Given the description of an element on the screen output the (x, y) to click on. 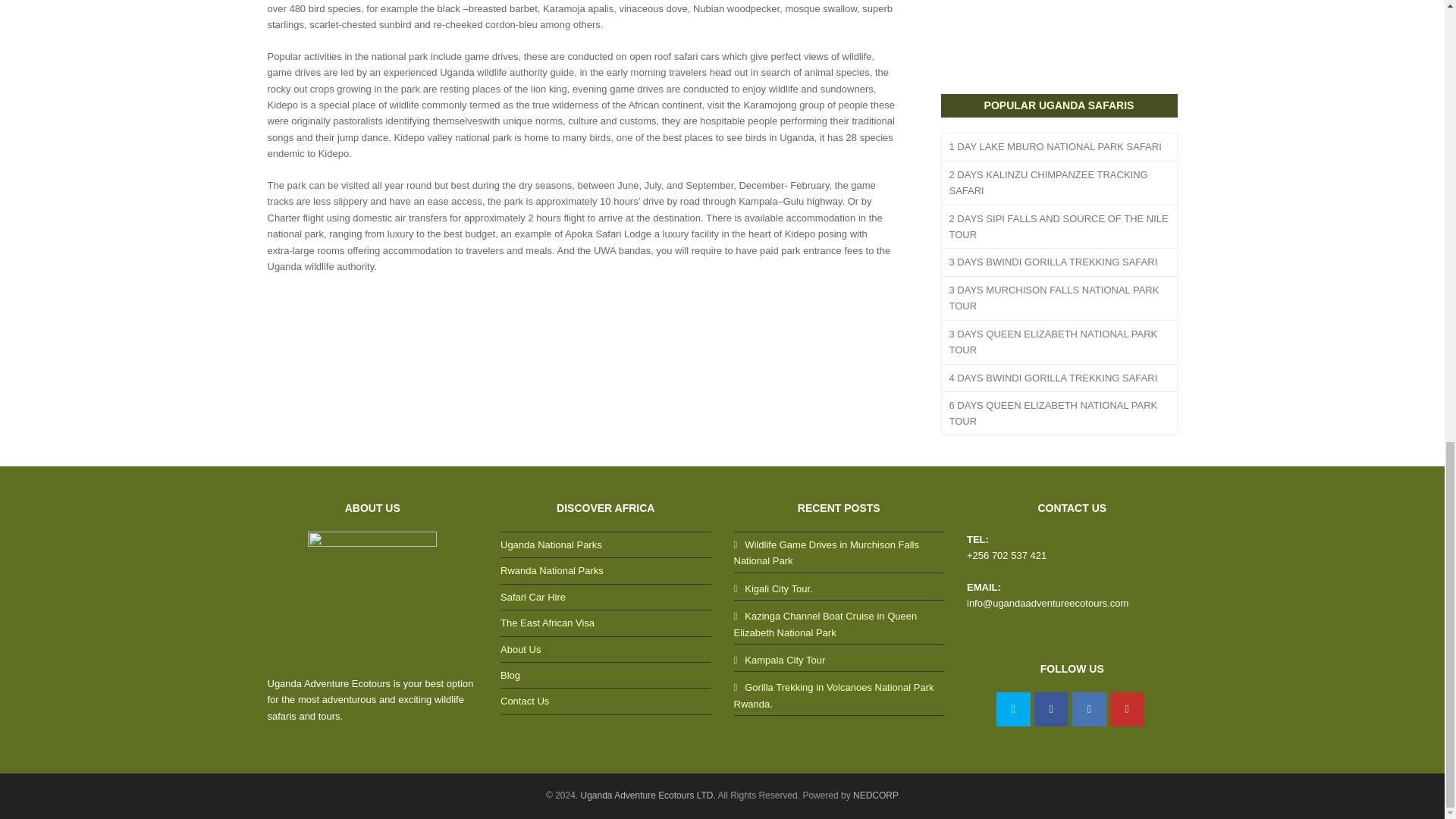
LinkedIn (1088, 709)
1 DAY LAKE MBURO NATIONAL PARK SAFARI (1058, 146)
6 DAYS QUEEN ELIZABETH NATIONAL PARK TOUR (1058, 413)
3 DAYS MURCHISON FALLS NATIONAL PARK TOUR (1058, 298)
3 DAYS BWINDI GORILLA TREKKING SAFARI (1058, 262)
Facebook (1050, 709)
4 DAYS BWINDI GORILLA TREKKING SAFARI (1058, 378)
2 DAYS KALINZU CHIMPANZEE TRACKING SAFARI (1058, 183)
Twitter (1012, 709)
2 DAYS SIPI FALLS AND SOURCE OF THE NILE TOUR (1058, 227)
Uganda National Parks (551, 544)
3 DAYS QUEEN ELIZABETH NATIONAL PARK TOUR (1058, 342)
Youtube (1126, 709)
